Given the description of an element on the screen output the (x, y) to click on. 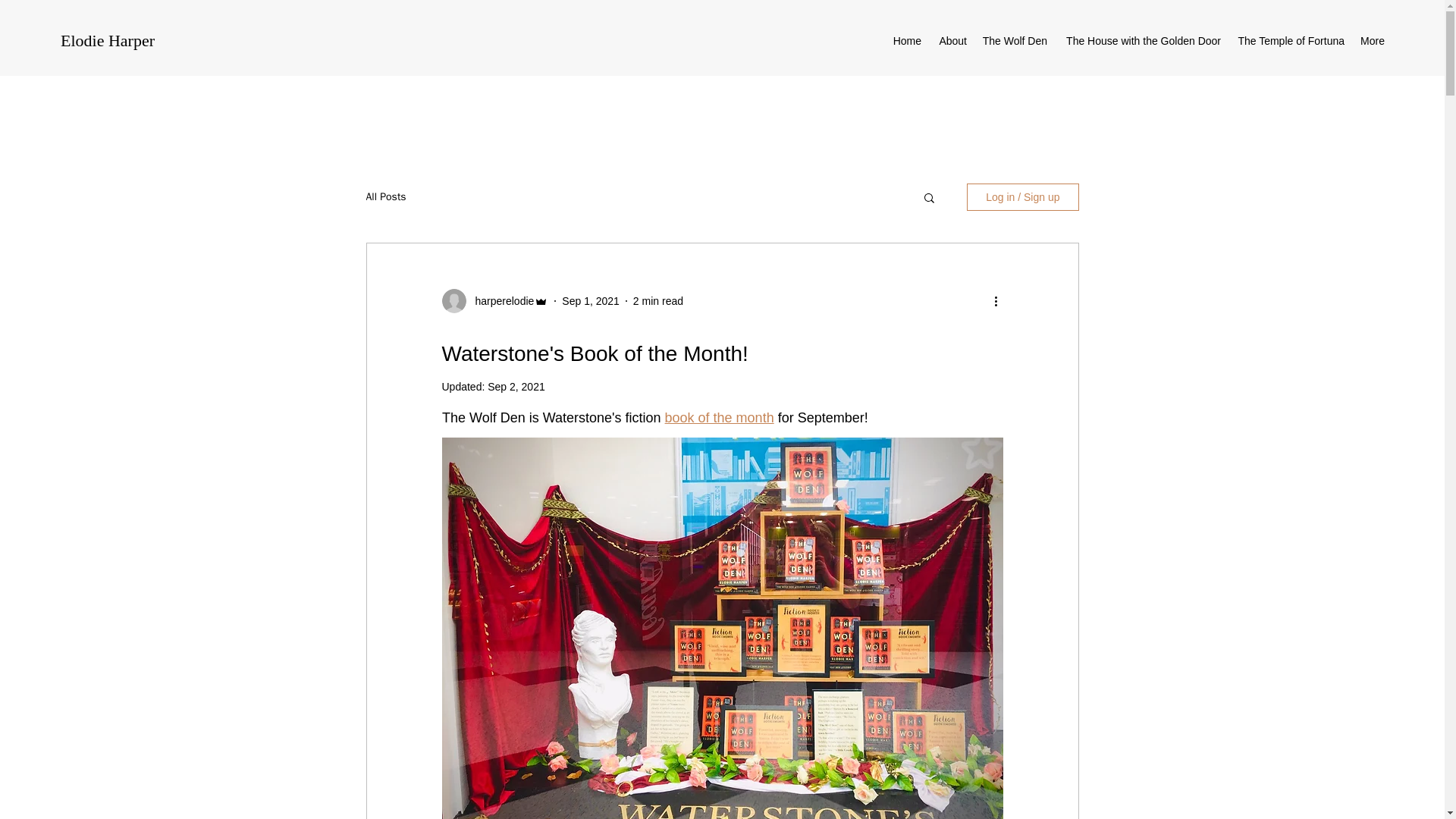
The House with the Golden Door (1141, 40)
Sep 2, 2021 (515, 386)
book of the month (718, 417)
harperelodie (499, 300)
Sep 1, 2021 (591, 300)
The Wolf Den (1014, 40)
About (951, 40)
Elodie Harper (107, 40)
2 min read (657, 300)
The Temple of Fortuna (1290, 40)
All Posts (385, 196)
Home (906, 40)
